Given the description of an element on the screen output the (x, y) to click on. 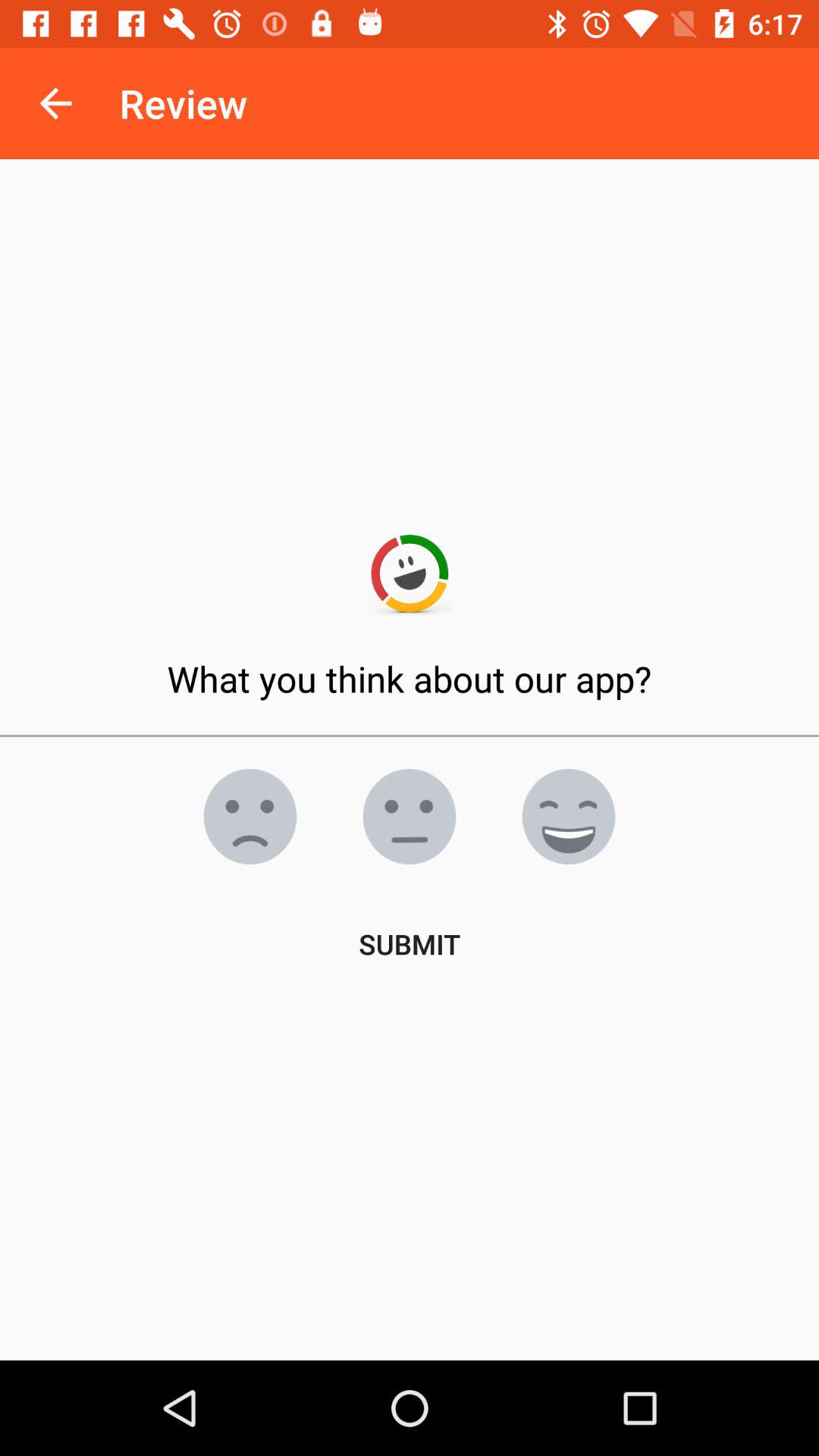
press item above submit (249, 816)
